Given the description of an element on the screen output the (x, y) to click on. 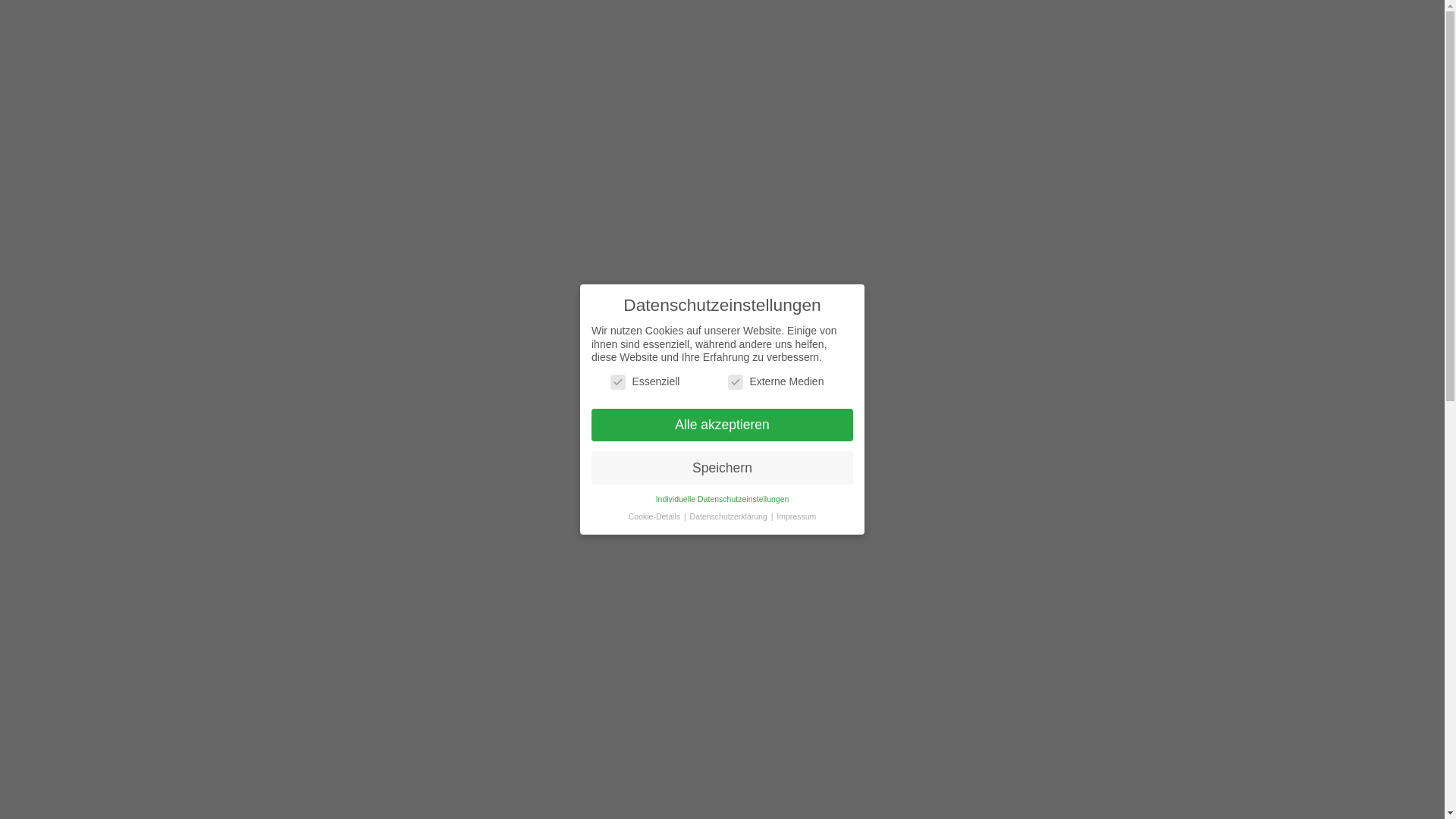
START (516, 60)
xs1 (327, 469)
TAGUNGEN (942, 60)
DIE IGL (629, 60)
FORUM (1014, 60)
DER MAKROPODE (719, 60)
Mehr (327, 599)
INFORMATIONEN (1101, 60)
Titel des Rangs (328, 552)
xs1 (328, 513)
Channa, Parachanna (398, 210)
Forum (319, 210)
Themen-RSS-Feed (1147, 398)
LABYRINTHFISCHE (839, 60)
Schlangenkopffische (504, 210)
